Given the description of an element on the screen output the (x, y) to click on. 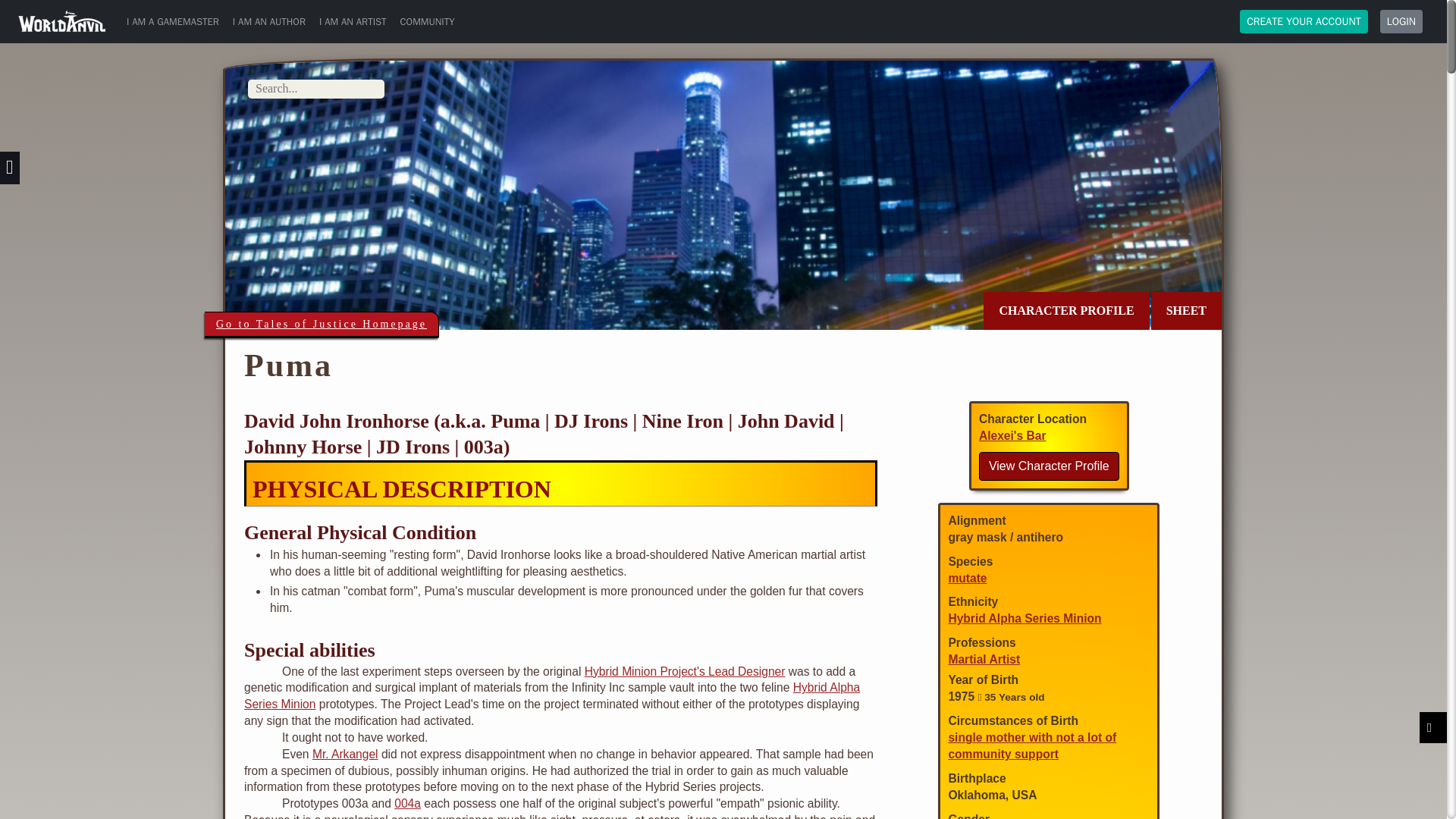
Go to Tales of Justice Homepage (322, 325)
004a (407, 802)
I AM AN ARTIST (353, 22)
COMMUNITY (427, 22)
I AM AN AUTHOR (269, 22)
LOGIN (1401, 21)
SHEET (1186, 310)
Hybrid Minion Project's Lead Designer (685, 671)
CHARACTER PROFILE (1066, 310)
Mr. Arkangel (345, 753)
